Given the description of an element on the screen output the (x, y) to click on. 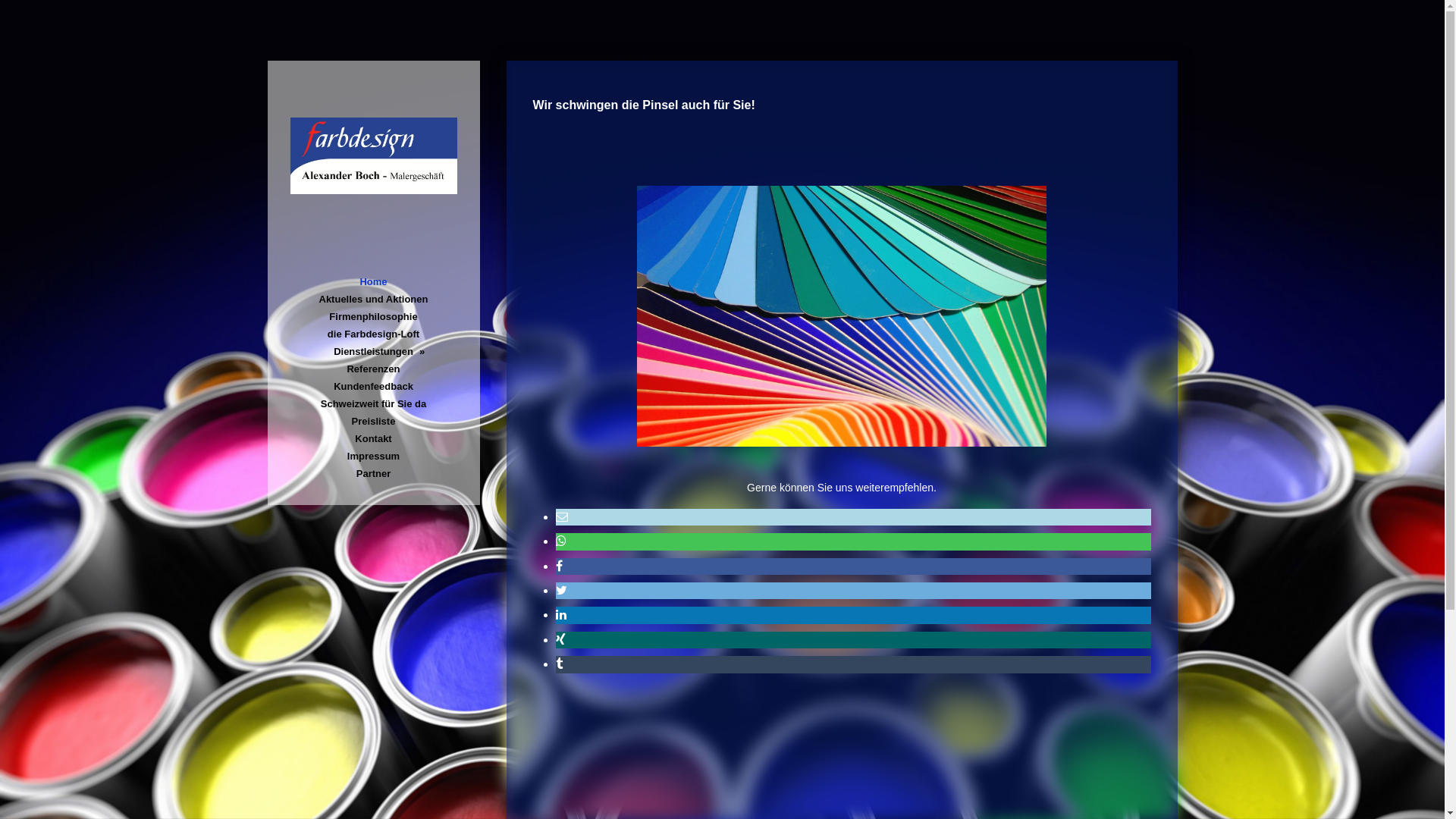
Kontakt Element type: text (372, 438)
die Farbdesign-Loft Element type: text (372, 333)
Kundenfeedback Element type: text (372, 386)
Firmenphilosophie Element type: text (372, 316)
LinkedIn Element type: hover (560, 614)
Tumblr Element type: hover (558, 663)
Referenzen Element type: text (372, 368)
E-mail Element type: hover (561, 516)
Twitter Element type: hover (560, 589)
Partner Element type: text (372, 473)
Dienstleistungen Element type: text (372, 351)
Impressum Element type: text (372, 455)
Xing Element type: hover (559, 639)
WhatsApp Element type: hover (560, 540)
Home Element type: text (372, 281)
Aktuelles und Aktionen Element type: text (372, 298)
Preisliste Element type: text (372, 420)
Facebook Element type: hover (558, 565)
